Given the description of an element on the screen output the (x, y) to click on. 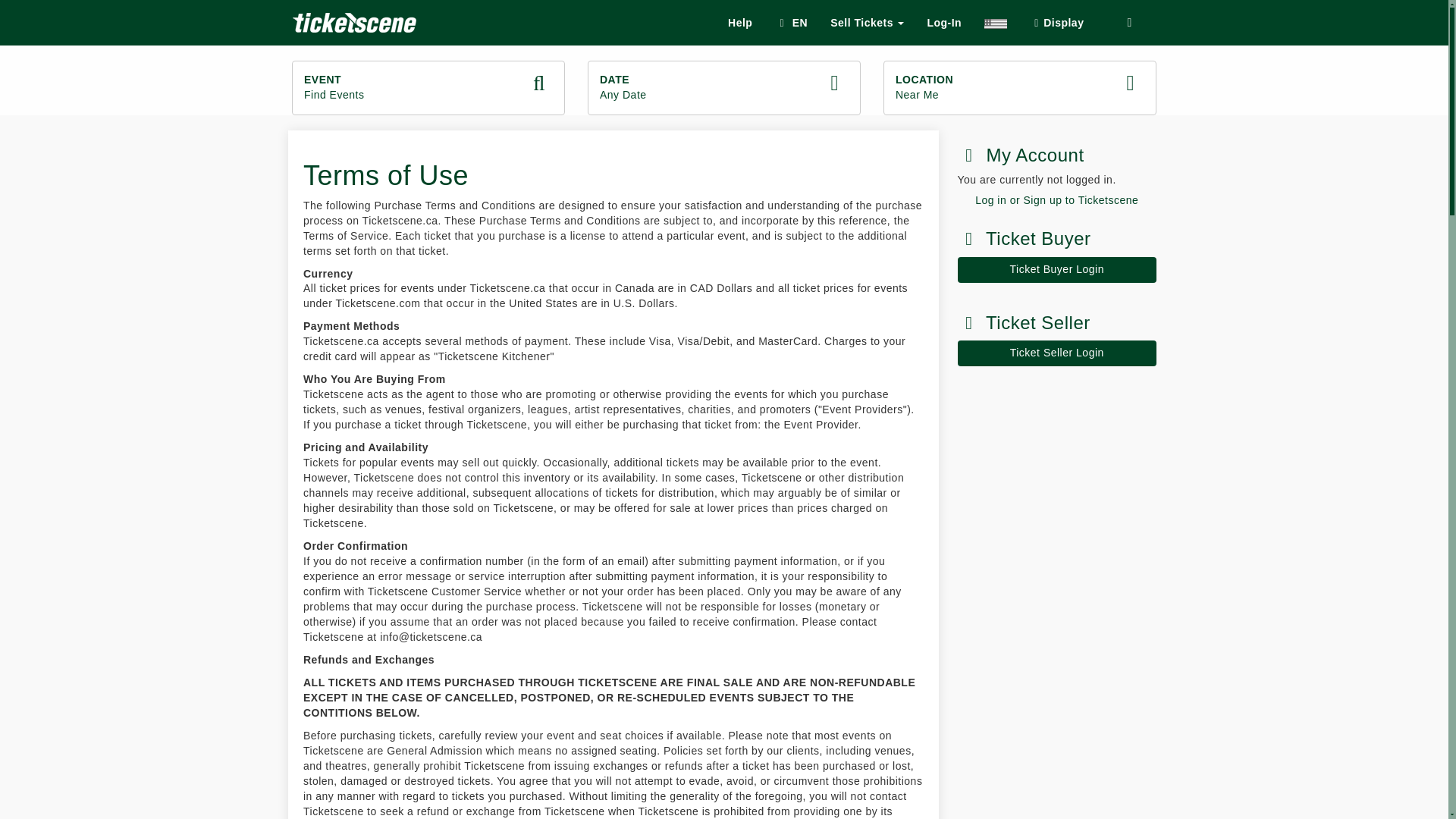
Sell Tickets (724, 87)
Ticket Seller Login (866, 22)
EN (1019, 87)
Log in or Sign up to Ticketscene (1056, 353)
Display (790, 22)
More Events Near Me (1056, 200)
Help (428, 87)
